Given the description of an element on the screen output the (x, y) to click on. 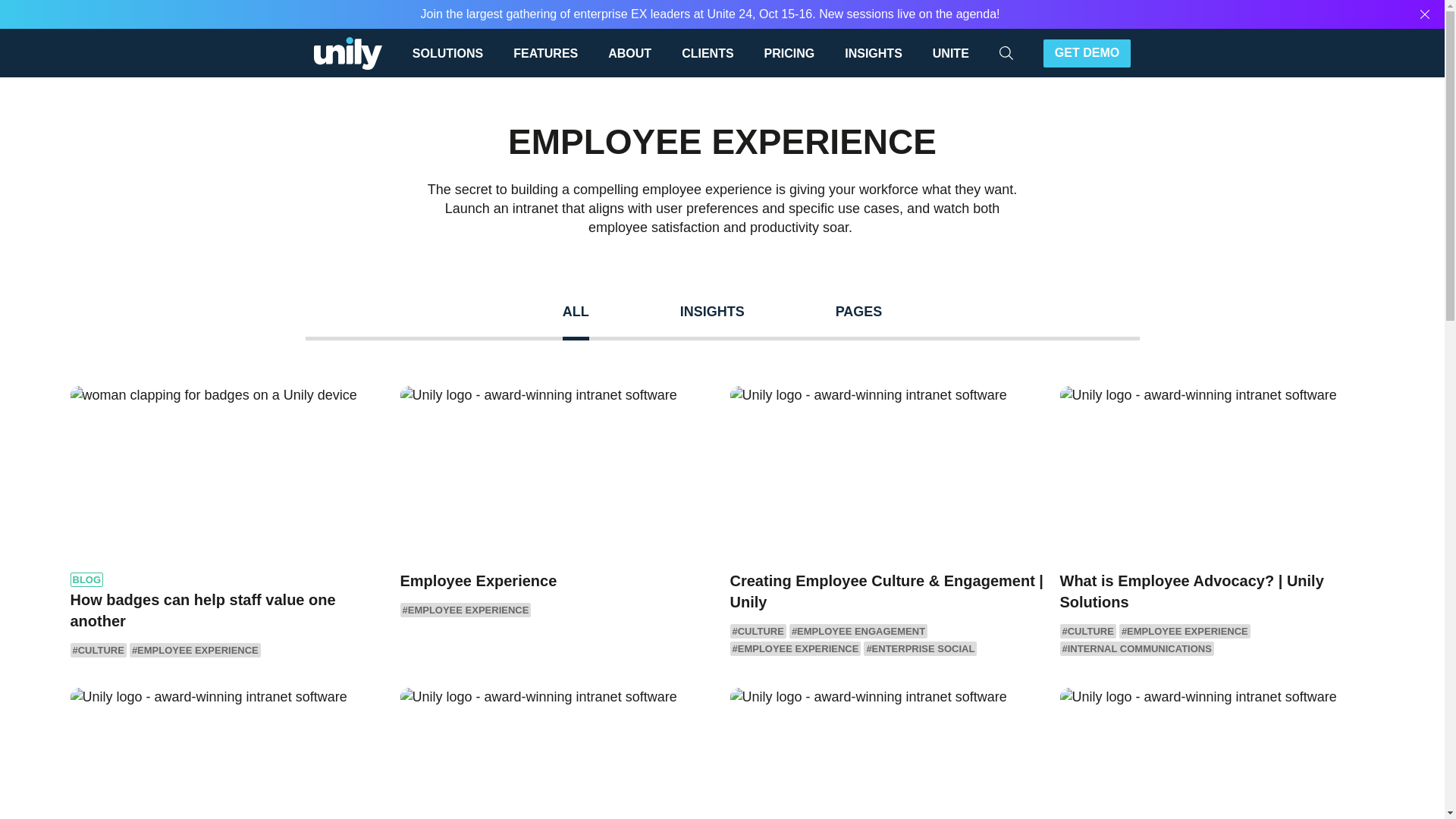
SOLUTIONS (454, 52)
Close (1425, 13)
Search (1055, 52)
